Given the description of an element on the screen output the (x, y) to click on. 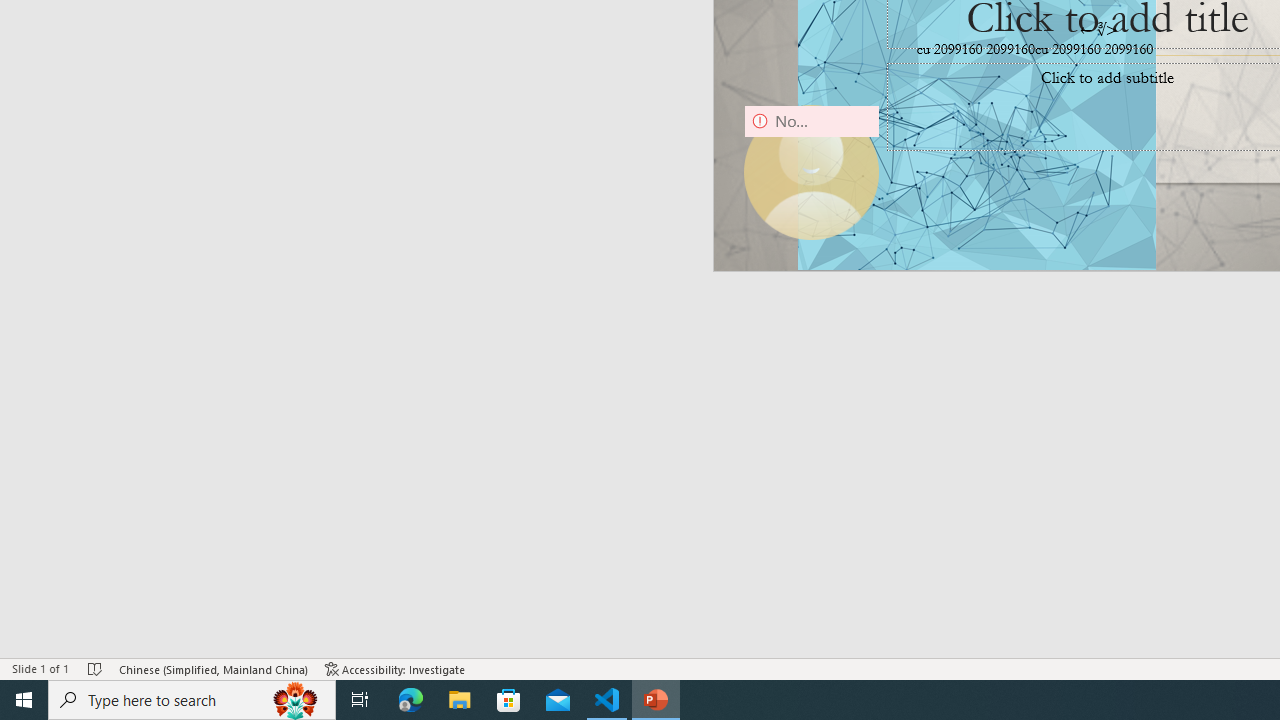
TextBox 7 (1099, 30)
